Given the description of an element on the screen output the (x, y) to click on. 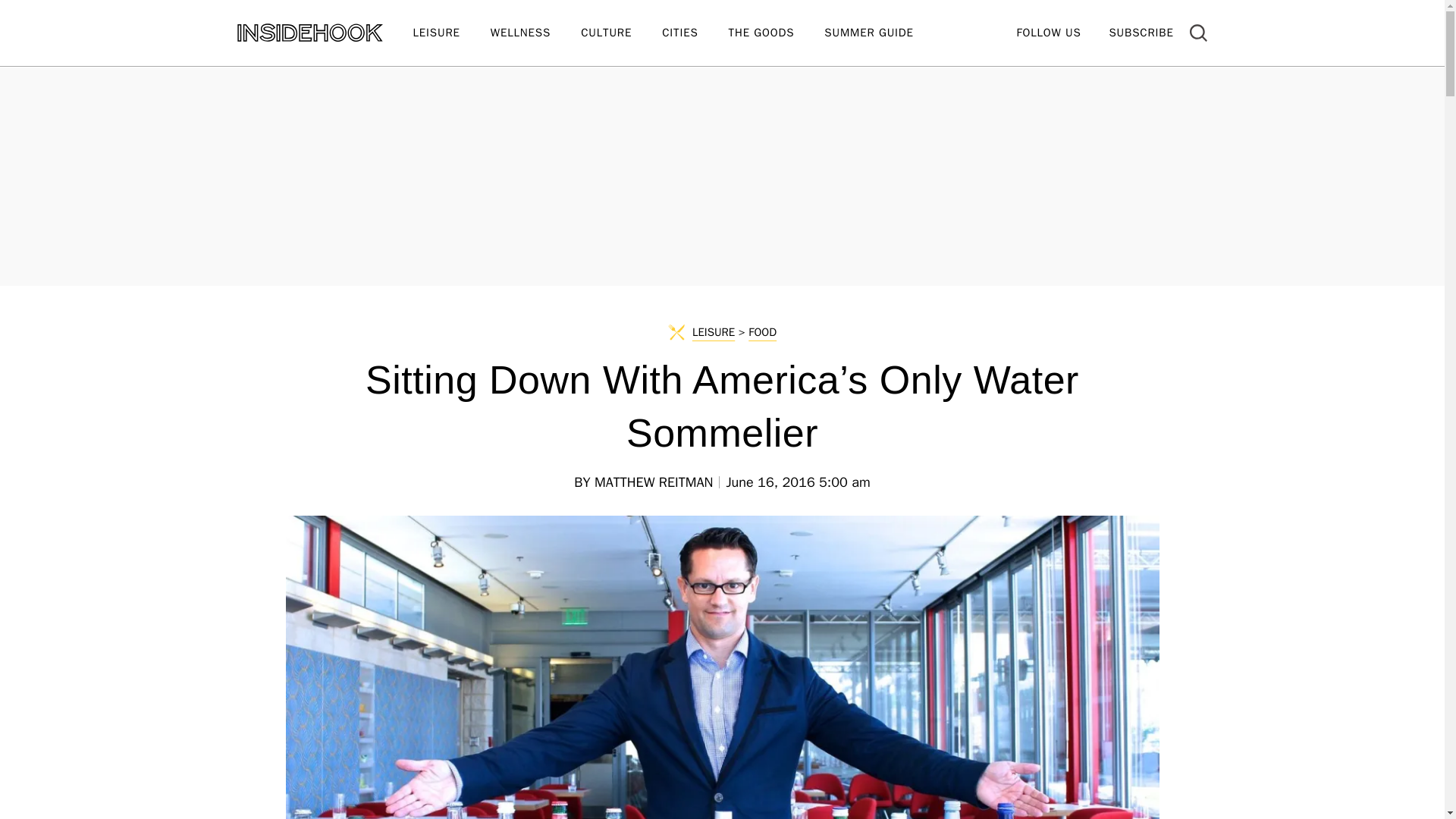
CULTURE (621, 32)
SUBSCRIBE (1140, 32)
THE GOODS (777, 32)
SUMMER GUIDE (883, 32)
FOLLOW US (1048, 32)
LEISURE (450, 32)
WELLNESS (535, 32)
CITIES (695, 32)
